Given the description of an element on the screen output the (x, y) to click on. 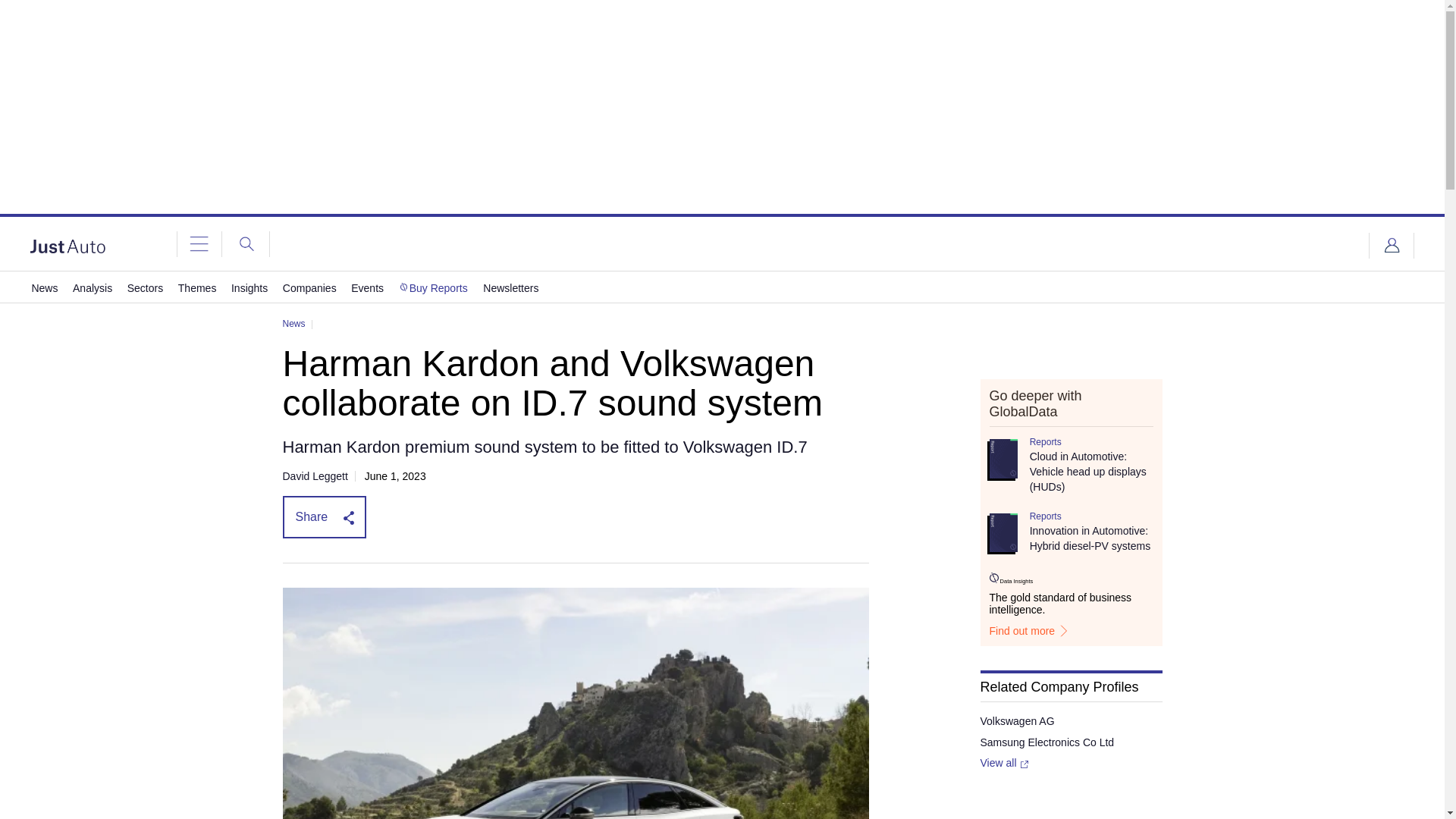
Login (1391, 245)
